Given the description of an element on the screen output the (x, y) to click on. 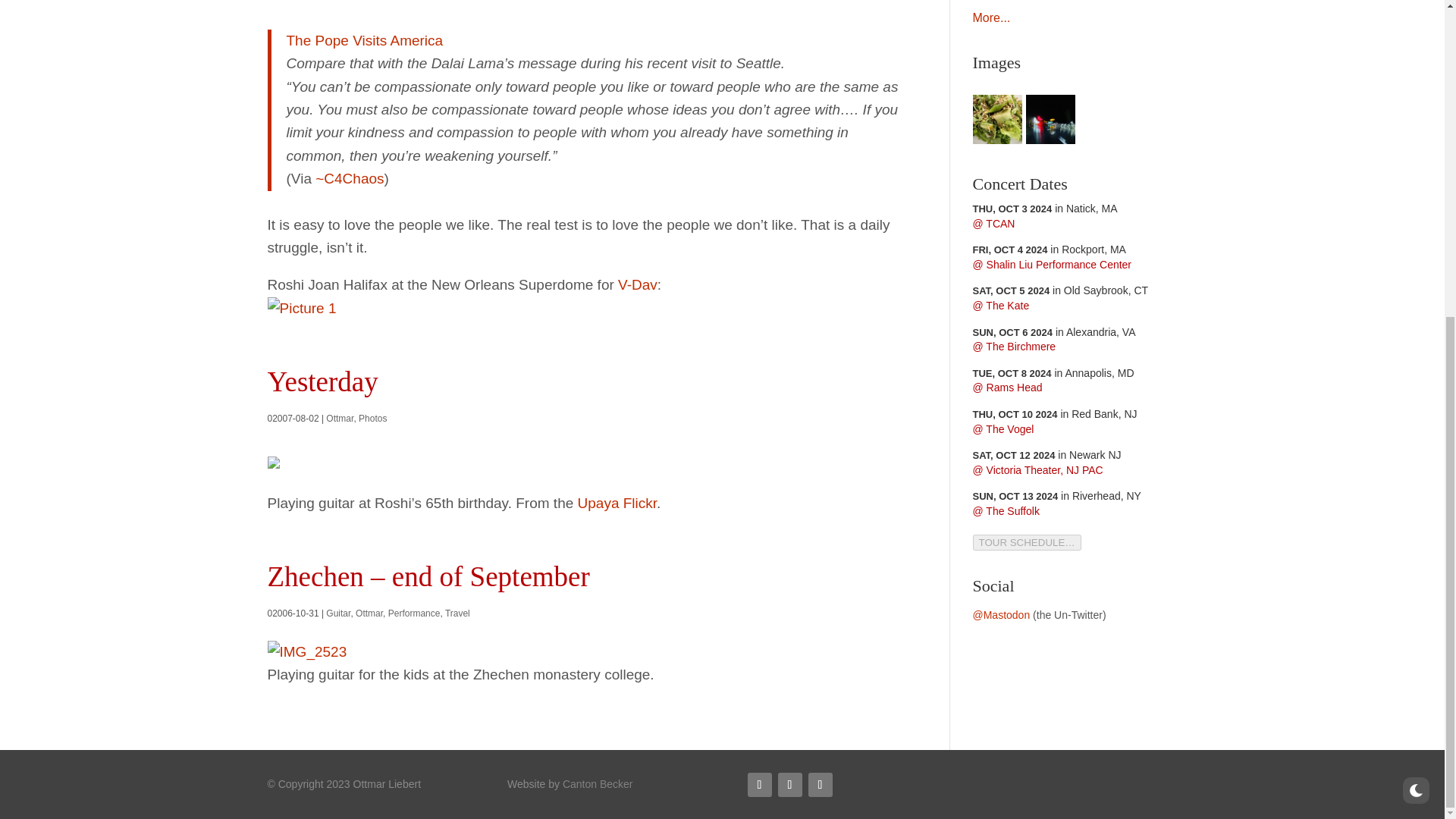
Follow on Odnoklassniki (789, 784)
Photos (372, 418)
Guitar (338, 613)
Upaya Flickr (618, 503)
Follow on Bandcamp (820, 784)
Yesterday (321, 381)
The Pope Visits America (365, 40)
V-Dav (637, 284)
Photo Sharing (306, 651)
Ottmar (368, 613)
Follow on RSS (759, 784)
Ottmar (339, 418)
View 'Picture 1' on Flickr.com (301, 308)
